Given the description of an element on the screen output the (x, y) to click on. 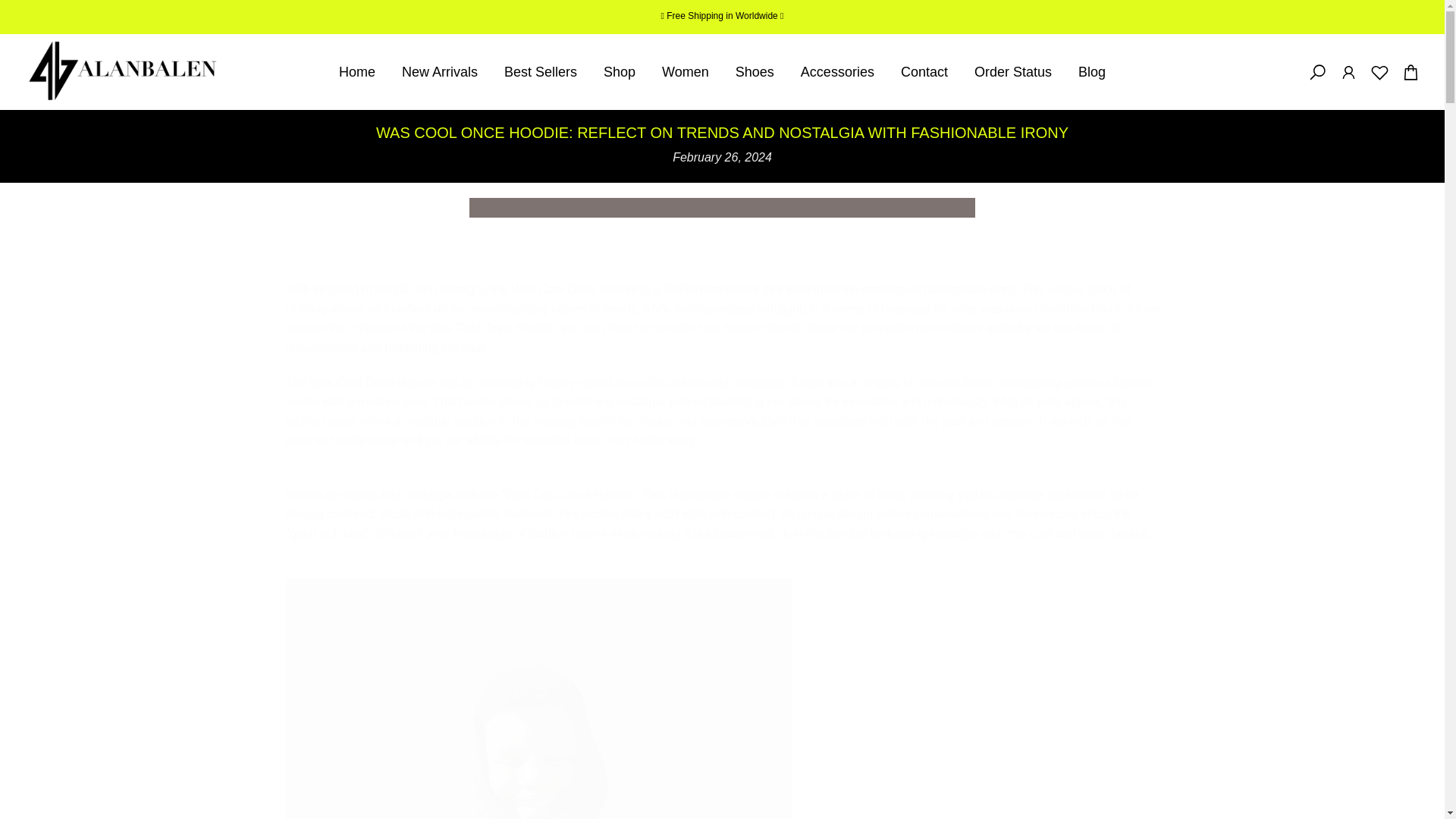
Accessories (836, 71)
Blog (1091, 71)
Contact (923, 71)
Home (356, 71)
Best Sellers (541, 71)
Women (685, 71)
Skip to content (10, 7)
Shop (620, 71)
New Arrivals (439, 71)
Shoes (754, 71)
